Given the description of an element on the screen output the (x, y) to click on. 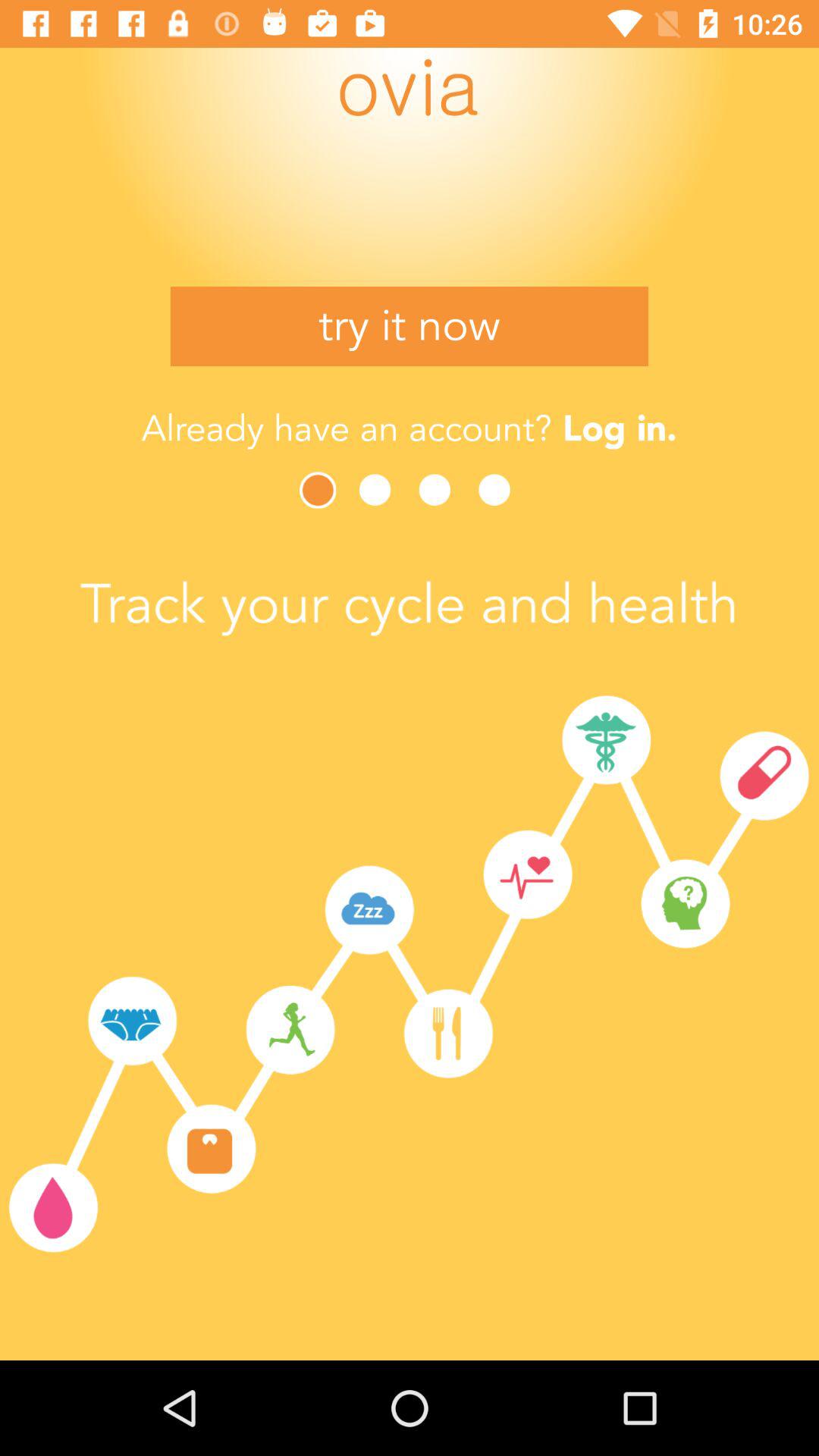
next image (319, 490)
